Given the description of an element on the screen output the (x, y) to click on. 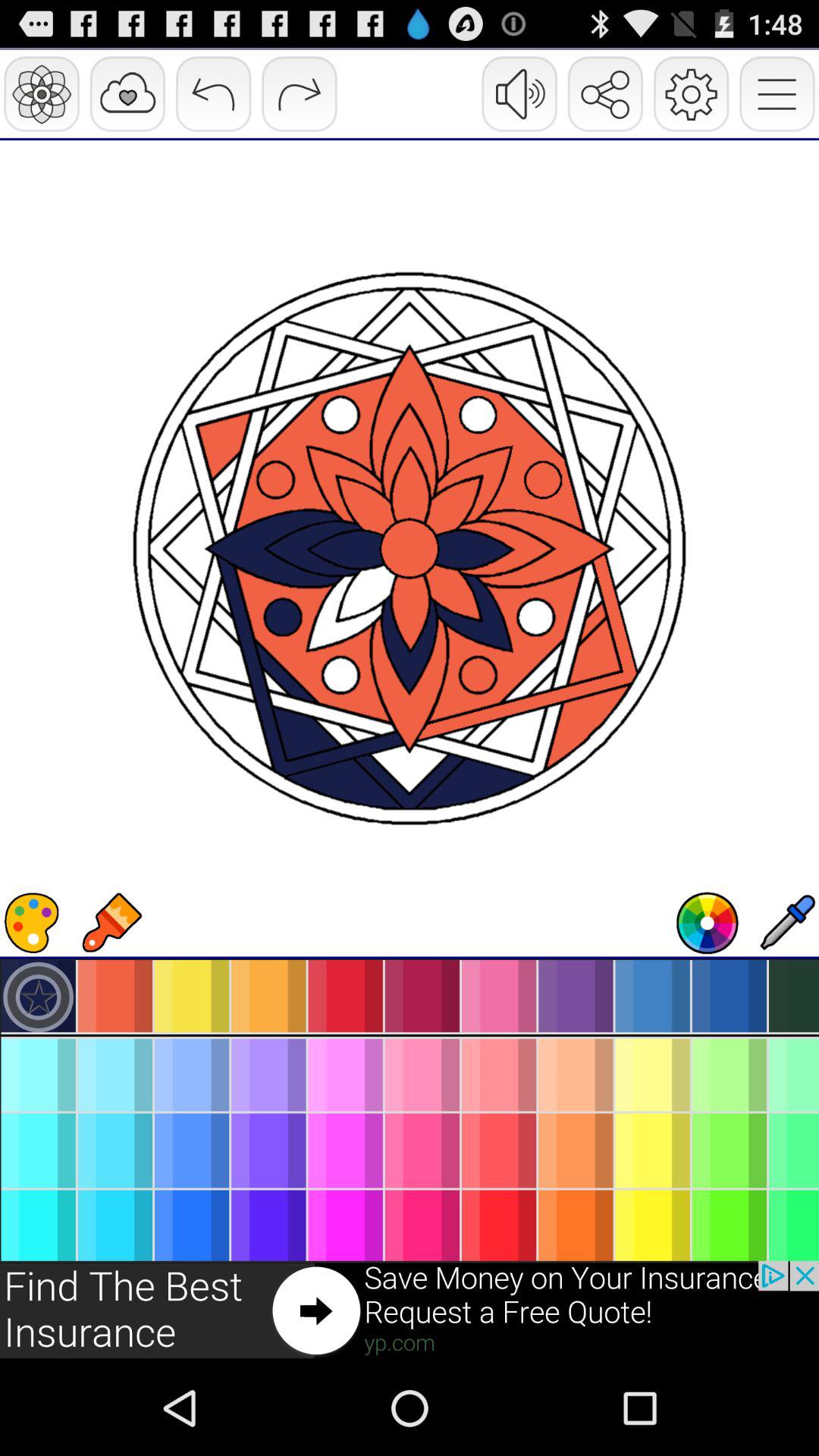
click the advertisement (409, 1310)
